Given the description of an element on the screen output the (x, y) to click on. 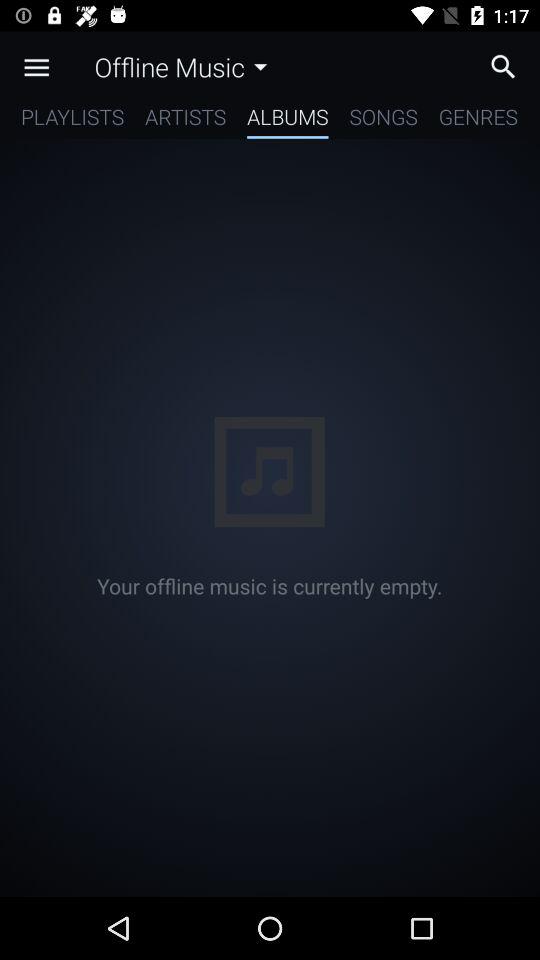
open the genres icon (477, 120)
